Given the description of an element on the screen output the (x, y) to click on. 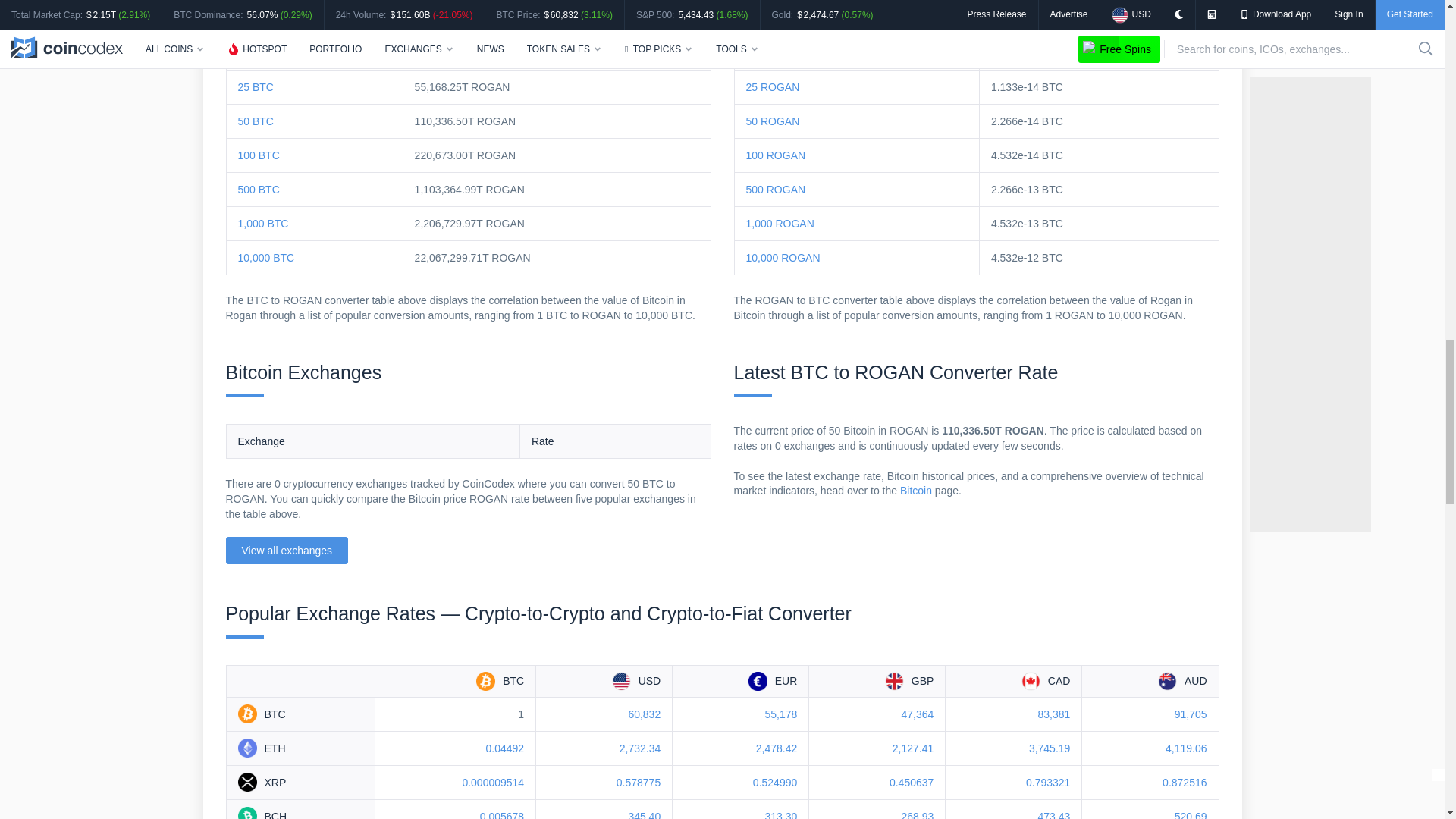
500 BTC (258, 189)
50 BTC (255, 121)
5 BTC (252, 19)
25 ROGAN (772, 87)
10,000 BTC (266, 257)
10 BTC (255, 52)
100 BTC (258, 155)
5 ROGAN (769, 19)
50 ROGAN (772, 121)
25 BTC (255, 87)
